Given the description of an element on the screen output the (x, y) to click on. 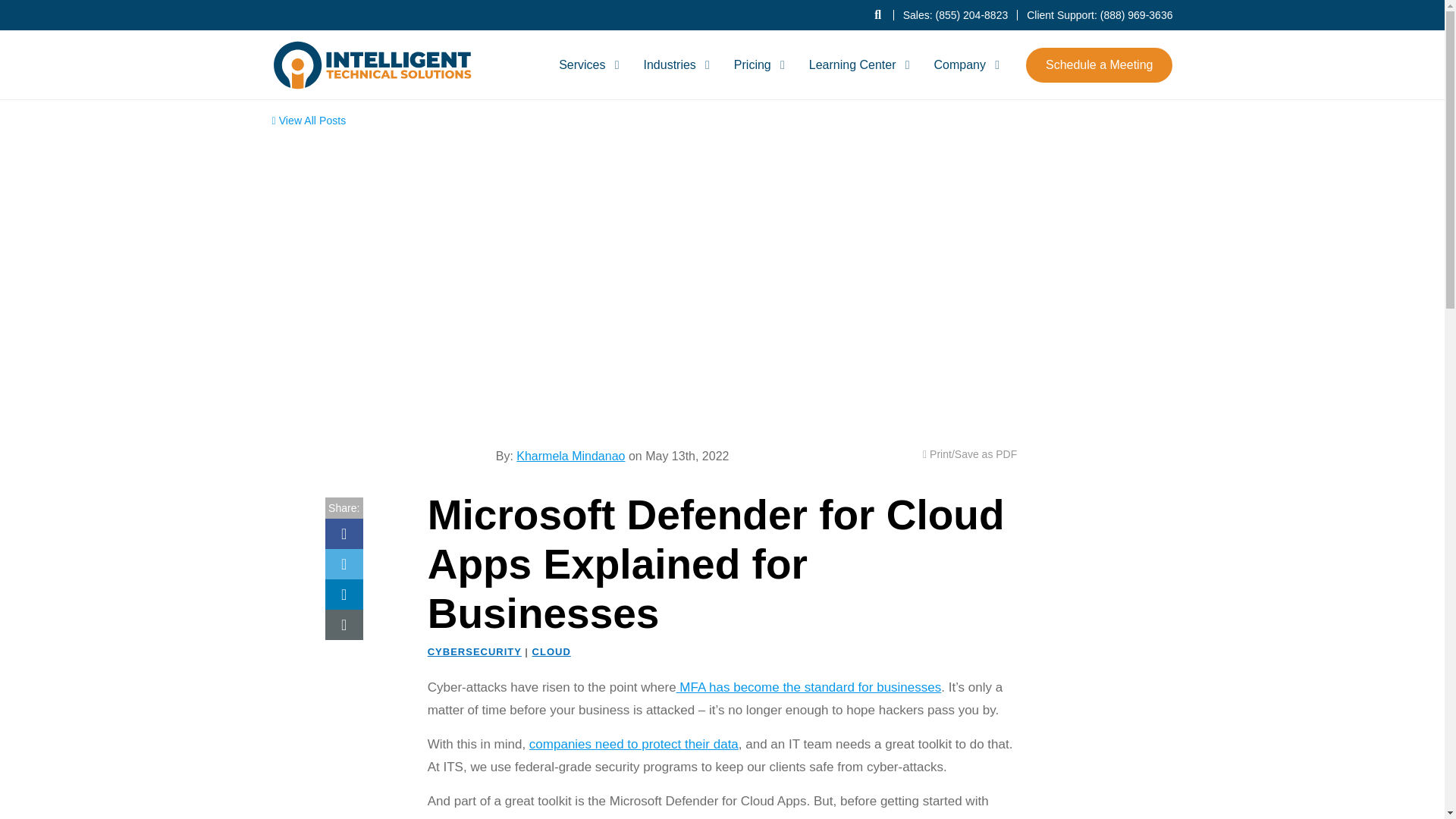
Share via Email (343, 624)
Services (586, 64)
Learning Center (856, 64)
Company (963, 64)
Kharmela Mindanao (457, 437)
Pricing (757, 64)
Share on Linkedin (343, 594)
Industries (673, 64)
Share on Twitter (343, 563)
Schedule a Meeting (1099, 63)
